Given the description of an element on the screen output the (x, y) to click on. 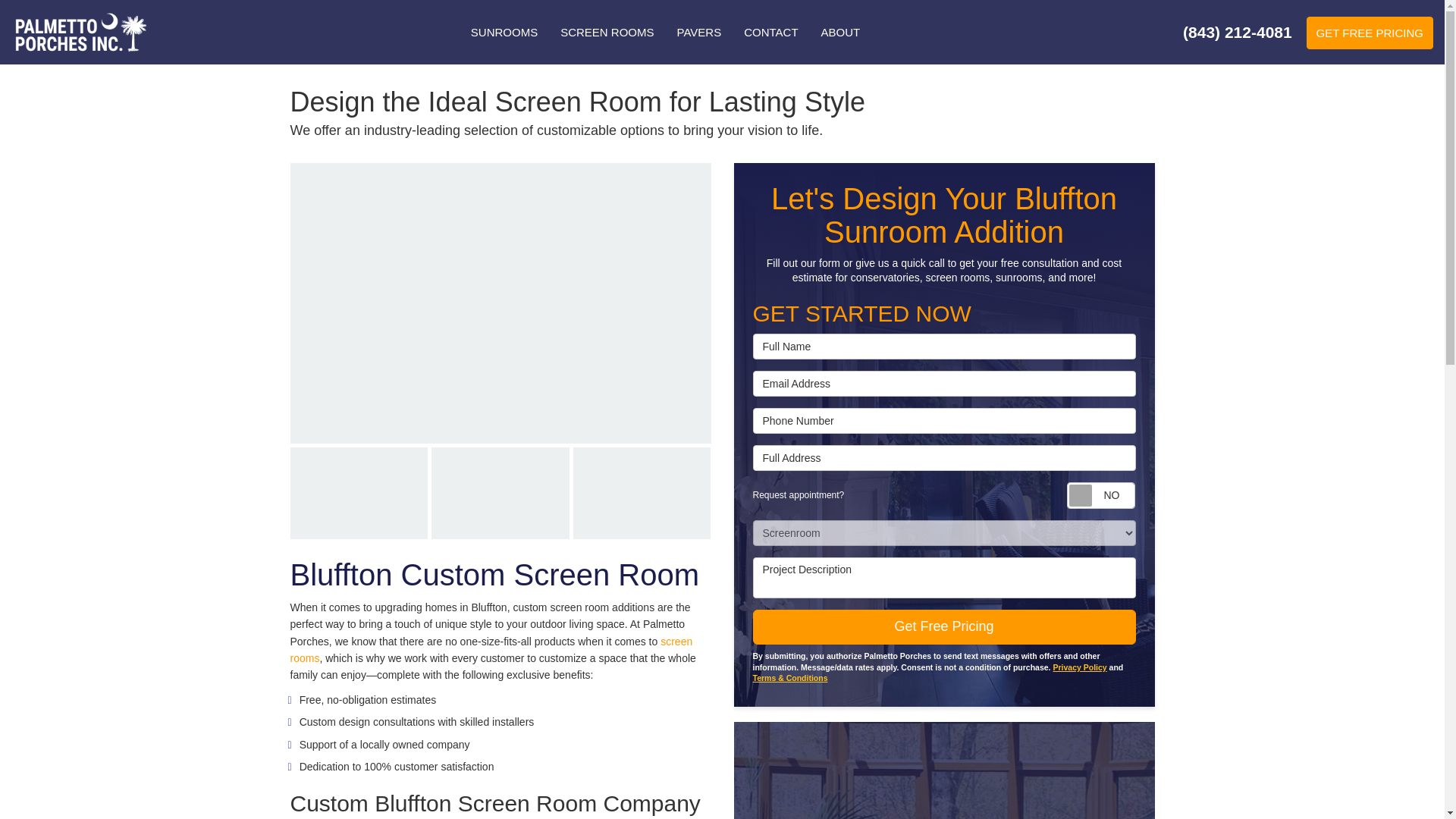
SCREEN ROOMS (606, 32)
GET FREE PRICING (1369, 32)
ABOUT (840, 32)
GET FREE PRICING (1369, 32)
PAVERS (699, 32)
SUNROOMS (504, 32)
CONTACT (770, 32)
